Given the description of an element on the screen output the (x, y) to click on. 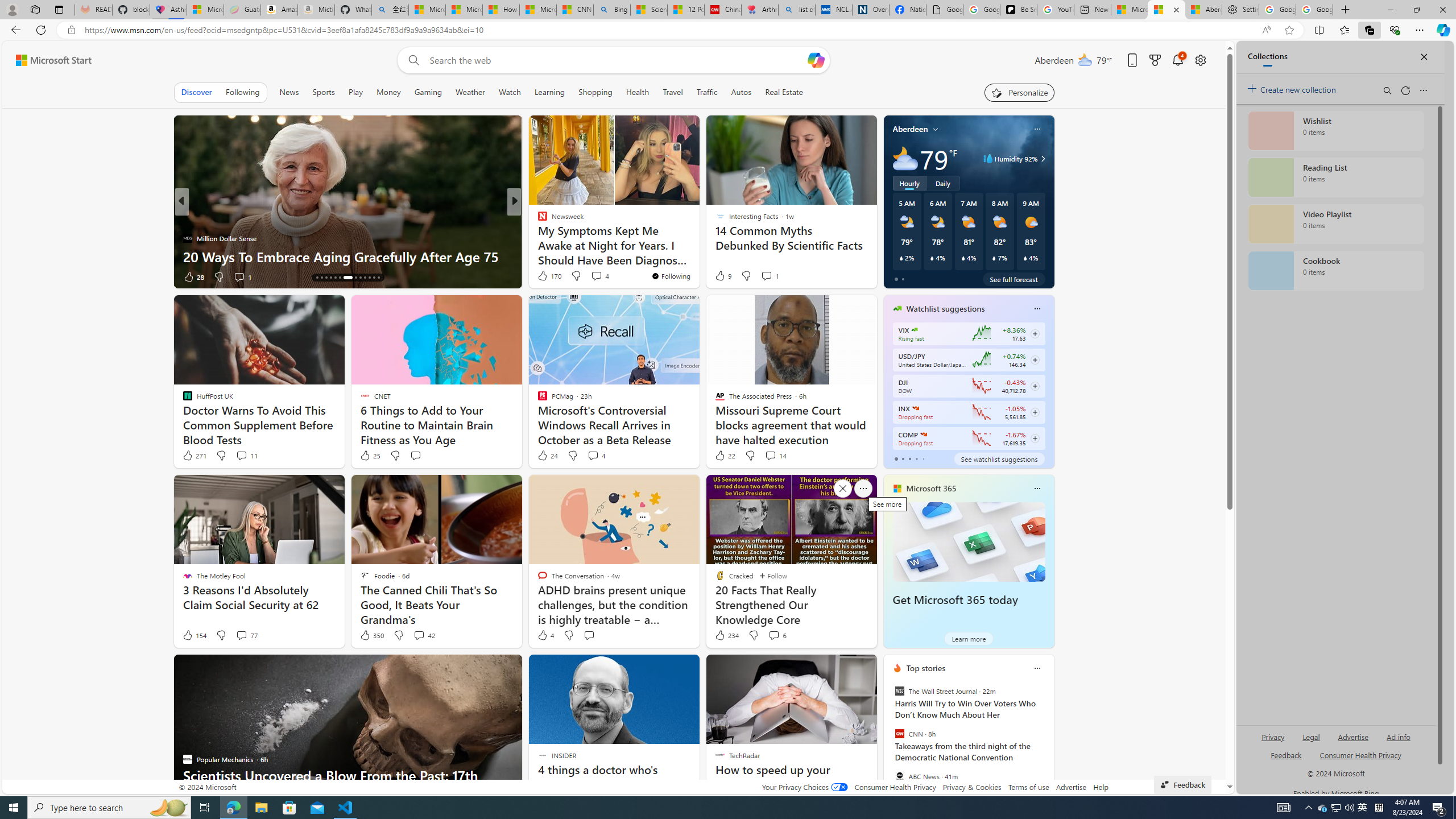
AutomationID: tab-24 (368, 277)
See watchlist suggestions (999, 459)
25 Like (368, 455)
